Given the description of an element on the screen output the (x, y) to click on. 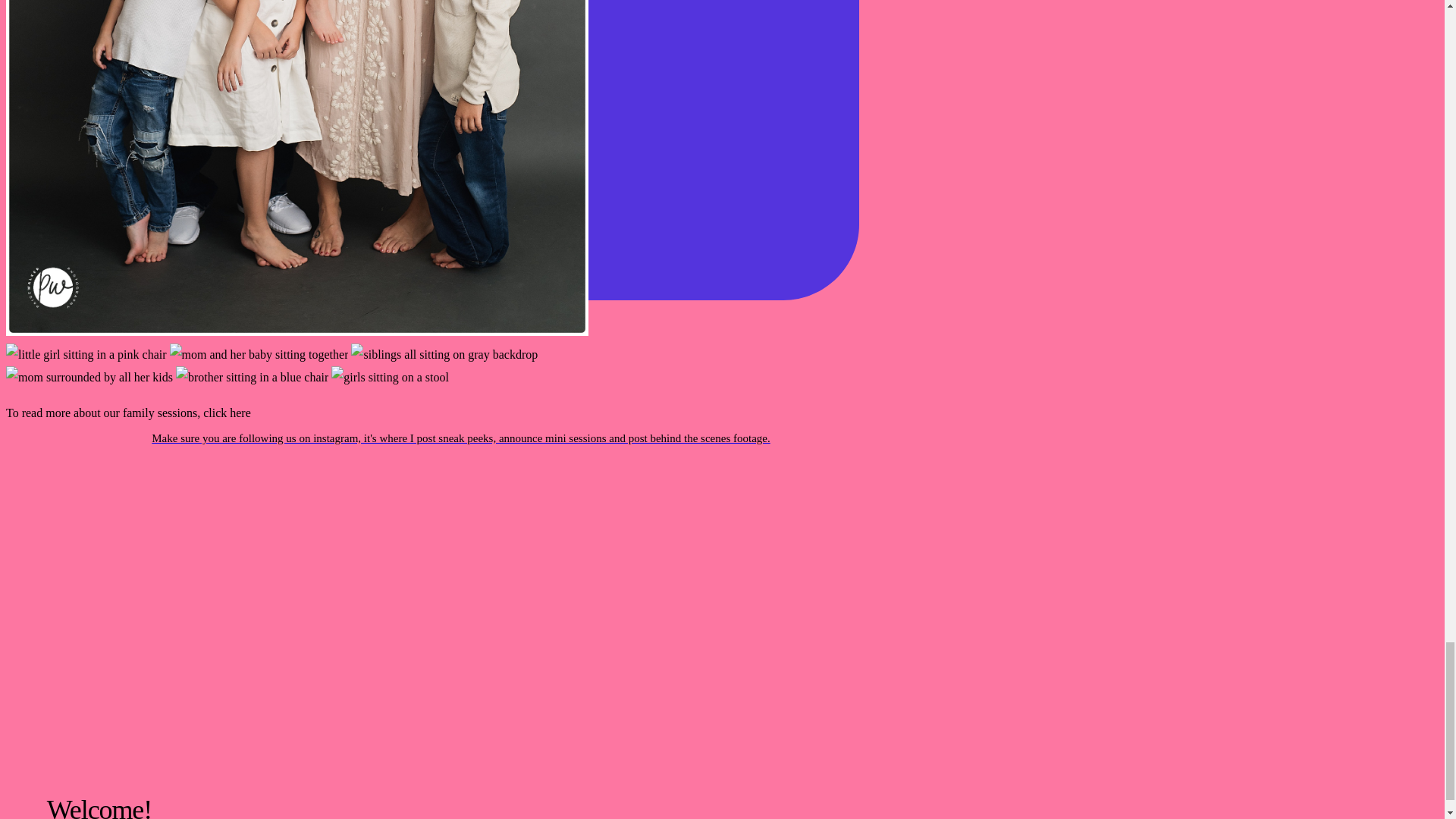
here (240, 412)
